Given the description of an element on the screen output the (x, y) to click on. 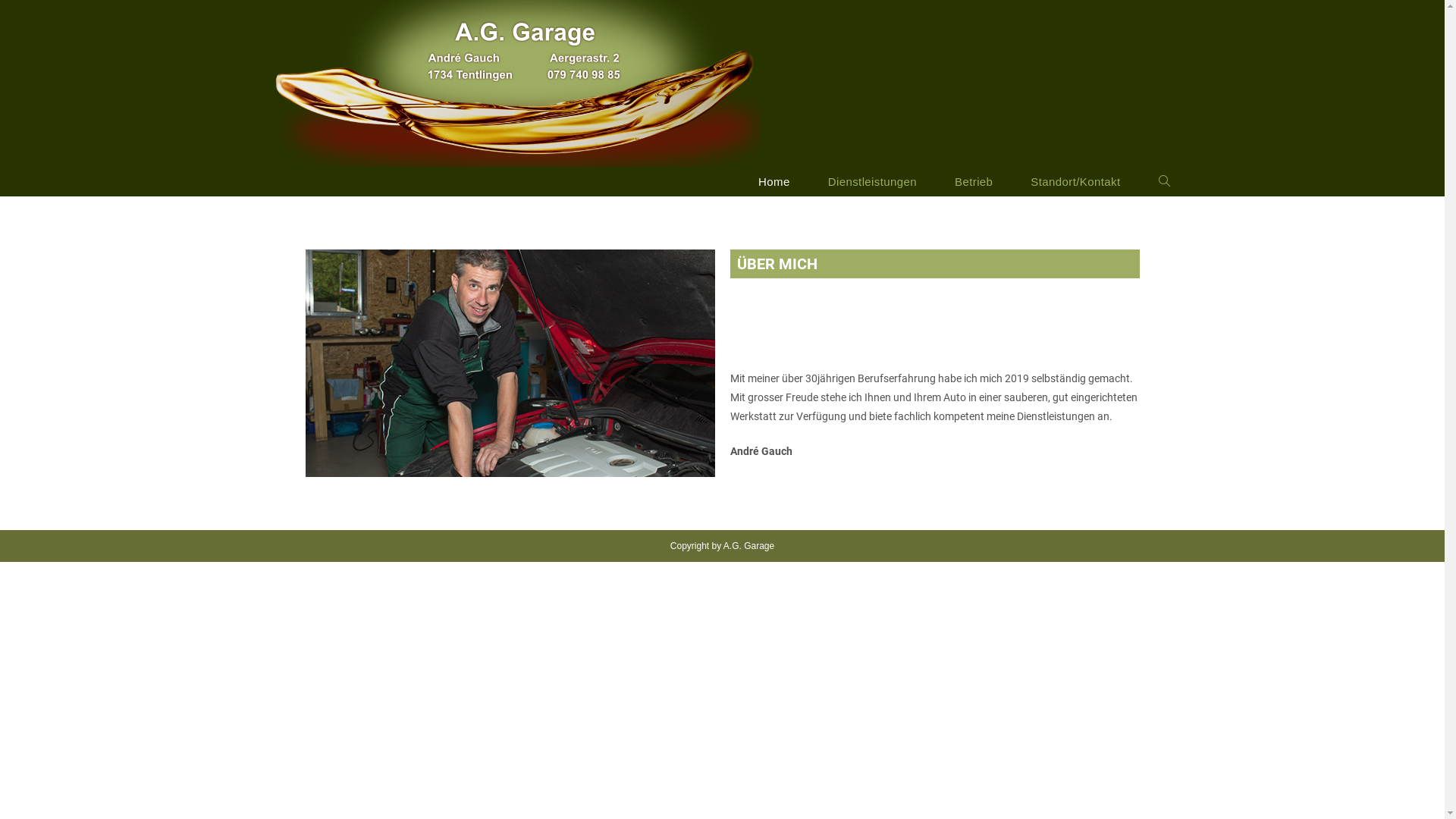
Dienstleistungen Element type: text (872, 181)
Betrieb Element type: text (973, 181)
Standort/Kontakt Element type: text (1075, 181)
Home Element type: text (774, 181)
